Given the description of an element on the screen output the (x, y) to click on. 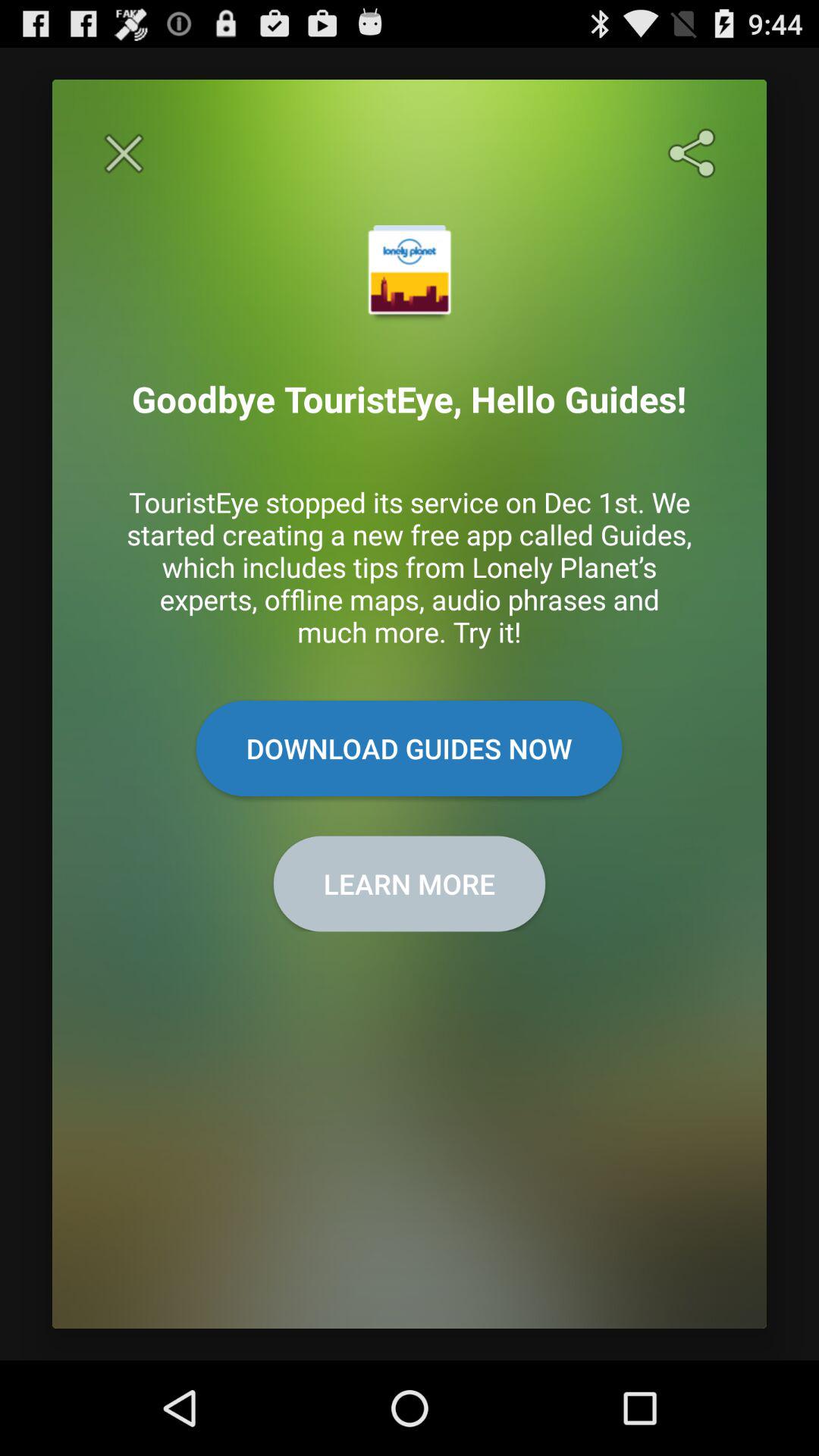
turn off icon below download guides now button (409, 883)
